Given the description of an element on the screen output the (x, y) to click on. 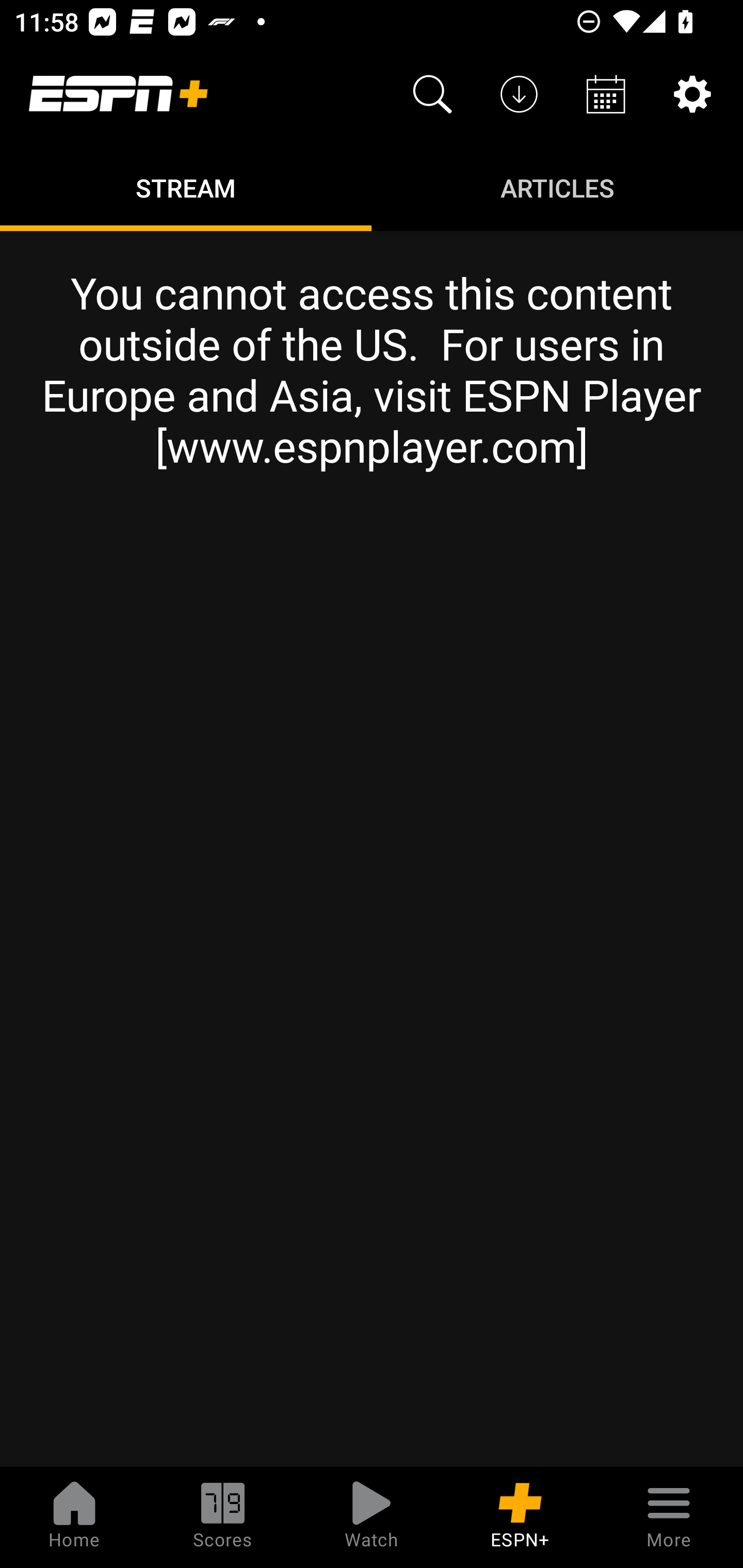
Search (432, 93)
Downloads (518, 93)
Schedule (605, 93)
Settings (692, 93)
Articles ARTICLES (557, 187)
Home (74, 1517)
Scores (222, 1517)
Watch (371, 1517)
More (668, 1517)
